Given the description of an element on the screen output the (x, y) to click on. 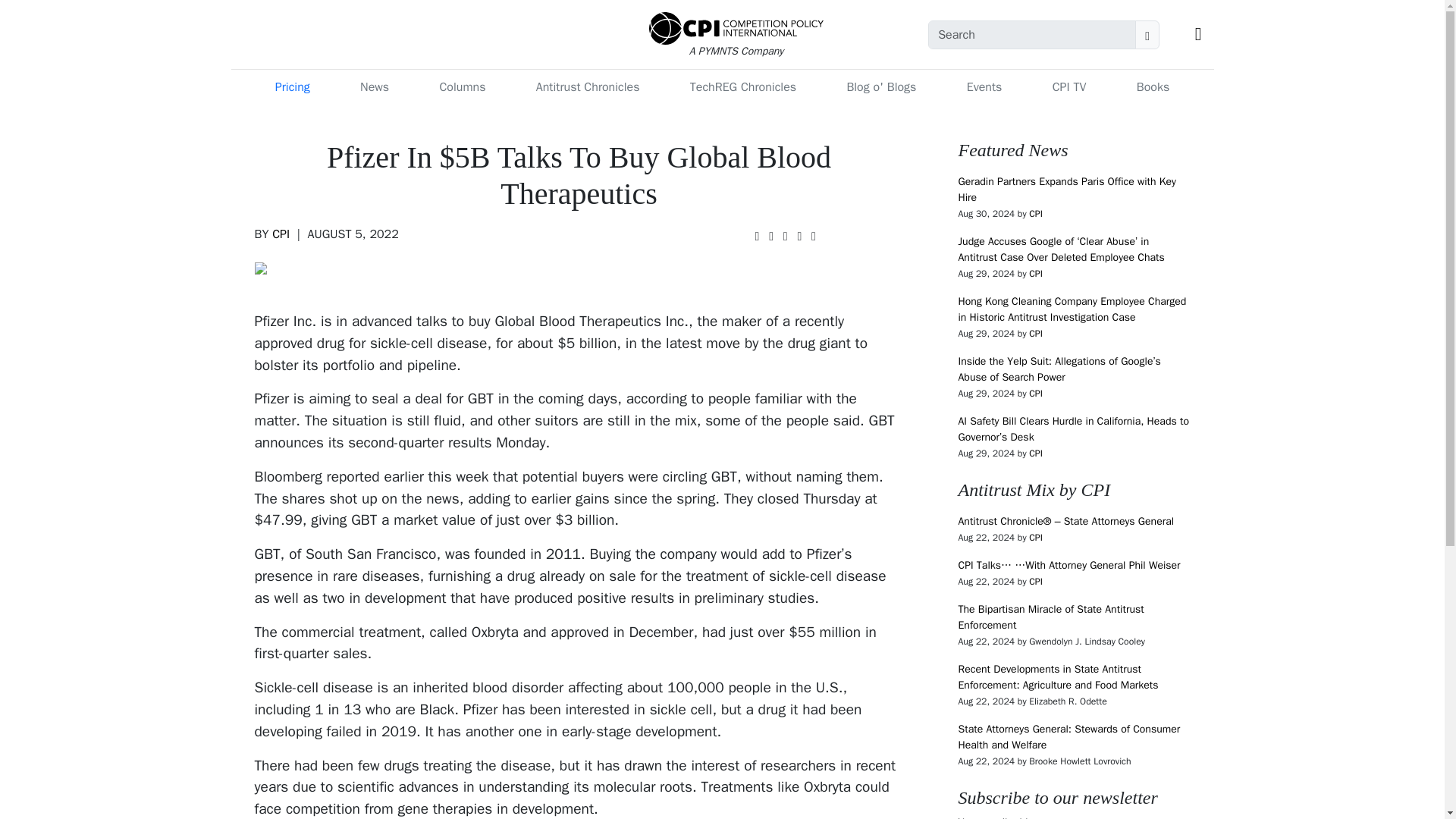
Posts by CPI (1035, 333)
Posts by CPI (280, 233)
News (373, 87)
Posts by CPI (1035, 393)
CPI (1035, 273)
CPI (1035, 581)
CPI (280, 233)
